Given the description of an element on the screen output the (x, y) to click on. 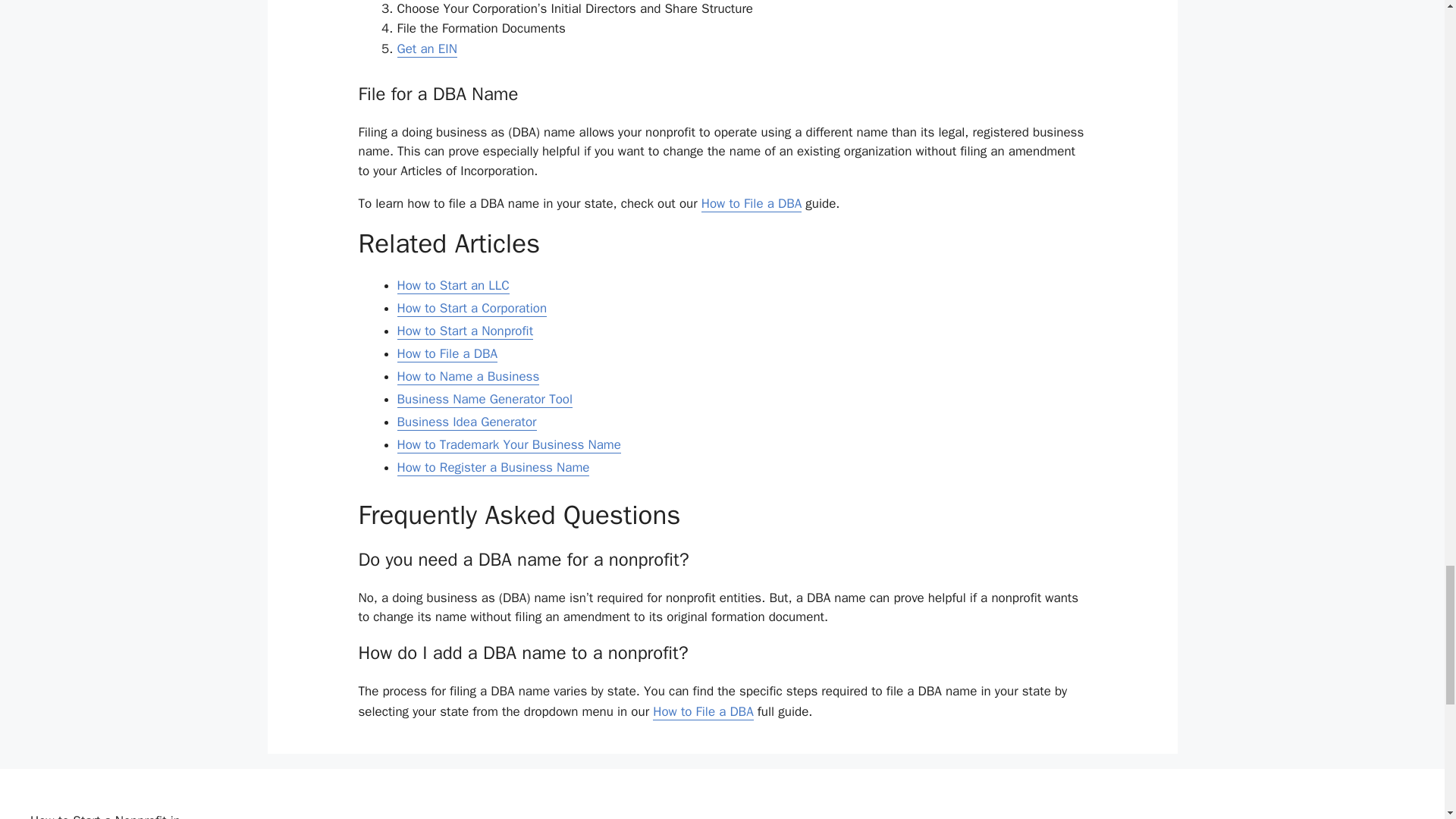
How to File a DBA (447, 353)
Business Name Generator Tool (485, 399)
How to Register a Business Name (493, 467)
How to Start a Corporation (472, 308)
How to File a DBA (702, 711)
How to Trademark Your Business Name (509, 444)
Get an EIN (427, 48)
Business Idea Generator (467, 422)
How to Start a Nonprofit (465, 330)
How to File a DBA (751, 203)
